Given the description of an element on the screen output the (x, y) to click on. 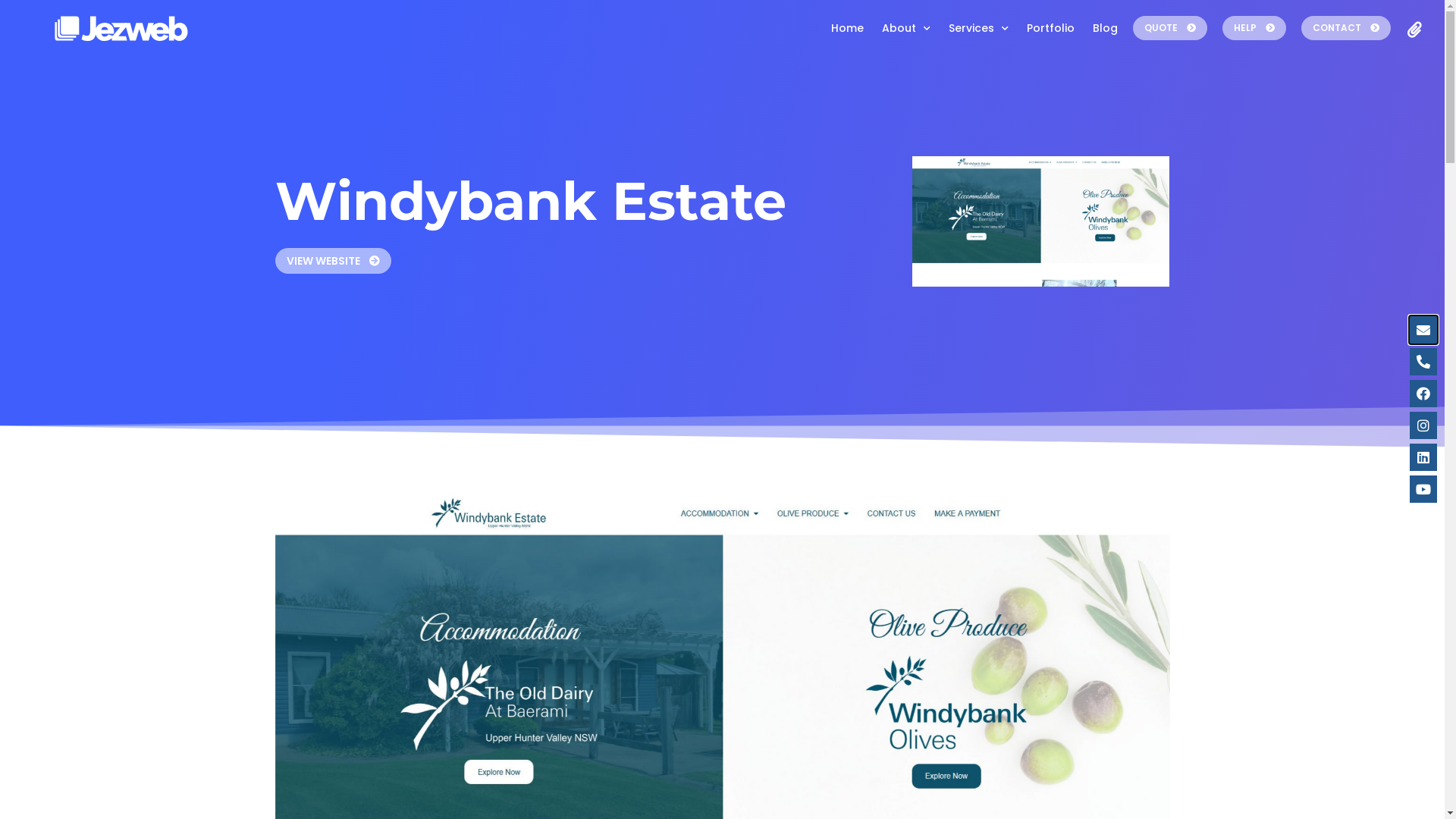
About Element type: text (905, 27)
Home Element type: text (847, 27)
Services Element type: text (978, 27)
Portfolio Element type: text (1050, 27)
CONTACT Element type: text (1345, 27)
HELP Element type: text (1254, 27)
Blog Element type: text (1104, 27)
VIEW WEBSITE Element type: text (332, 260)
QUOTE Element type: text (1169, 27)
